Given the description of an element on the screen output the (x, y) to click on. 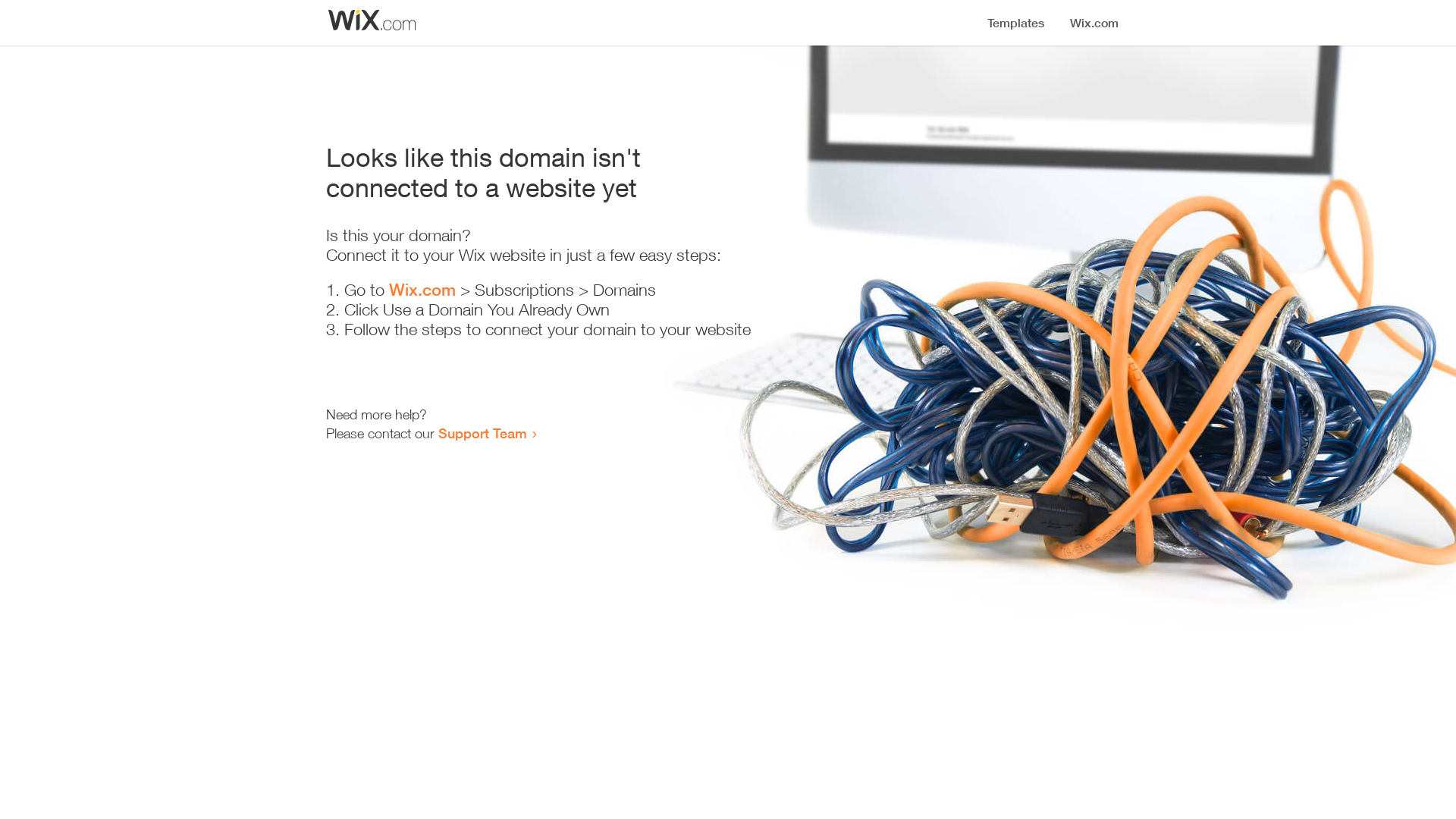
Support Team Element type: text (482, 432)
Wix.com Element type: text (422, 289)
